Given the description of an element on the screen output the (x, y) to click on. 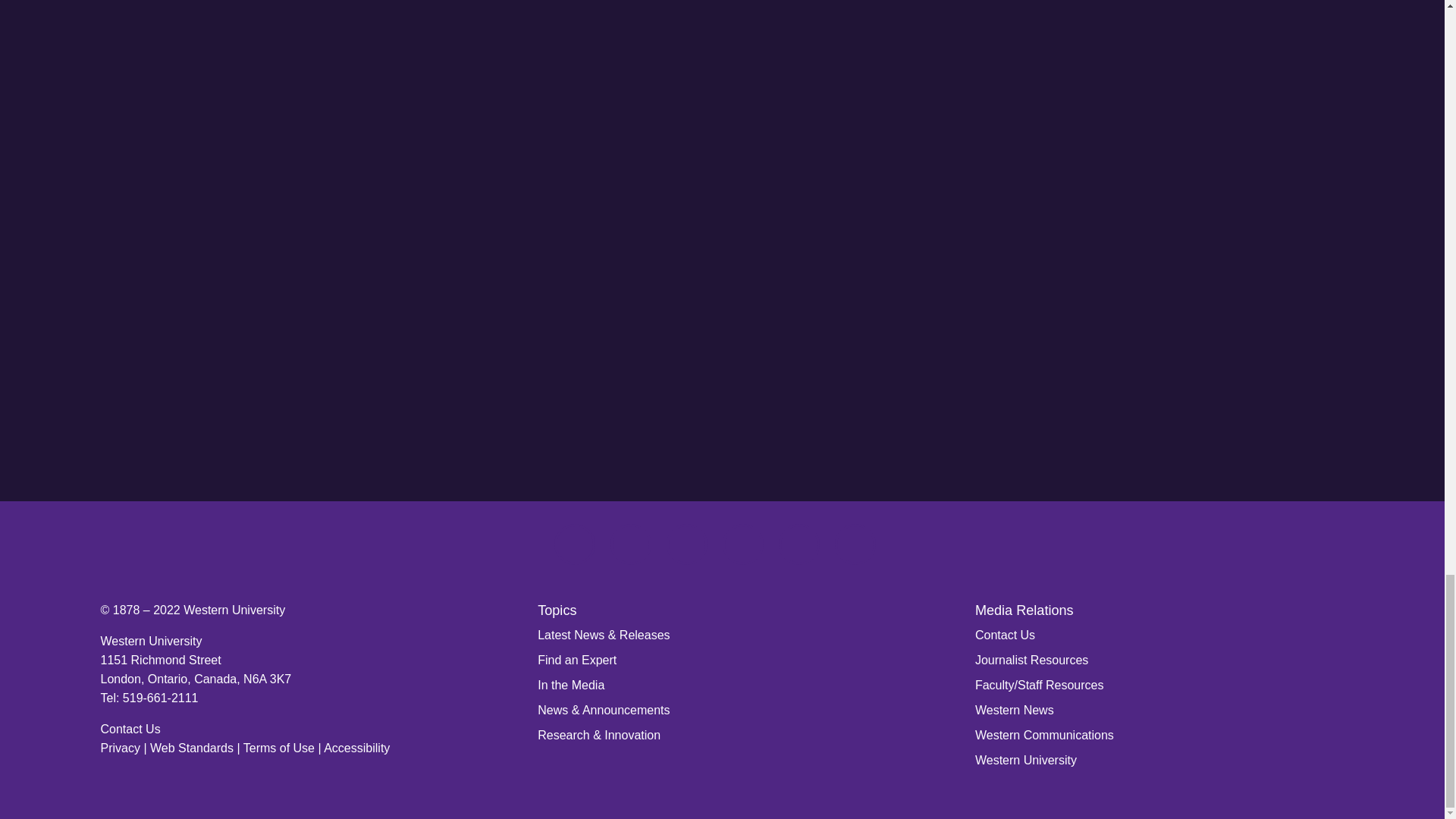
Follow on LinkedIn (685, 544)
Follow on Instagram (630, 544)
Follow on Facebook (573, 544)
Follow on TikTok (742, 544)
Follow on Youtube (854, 544)
Follow on X (797, 544)
